Given the description of an element on the screen output the (x, y) to click on. 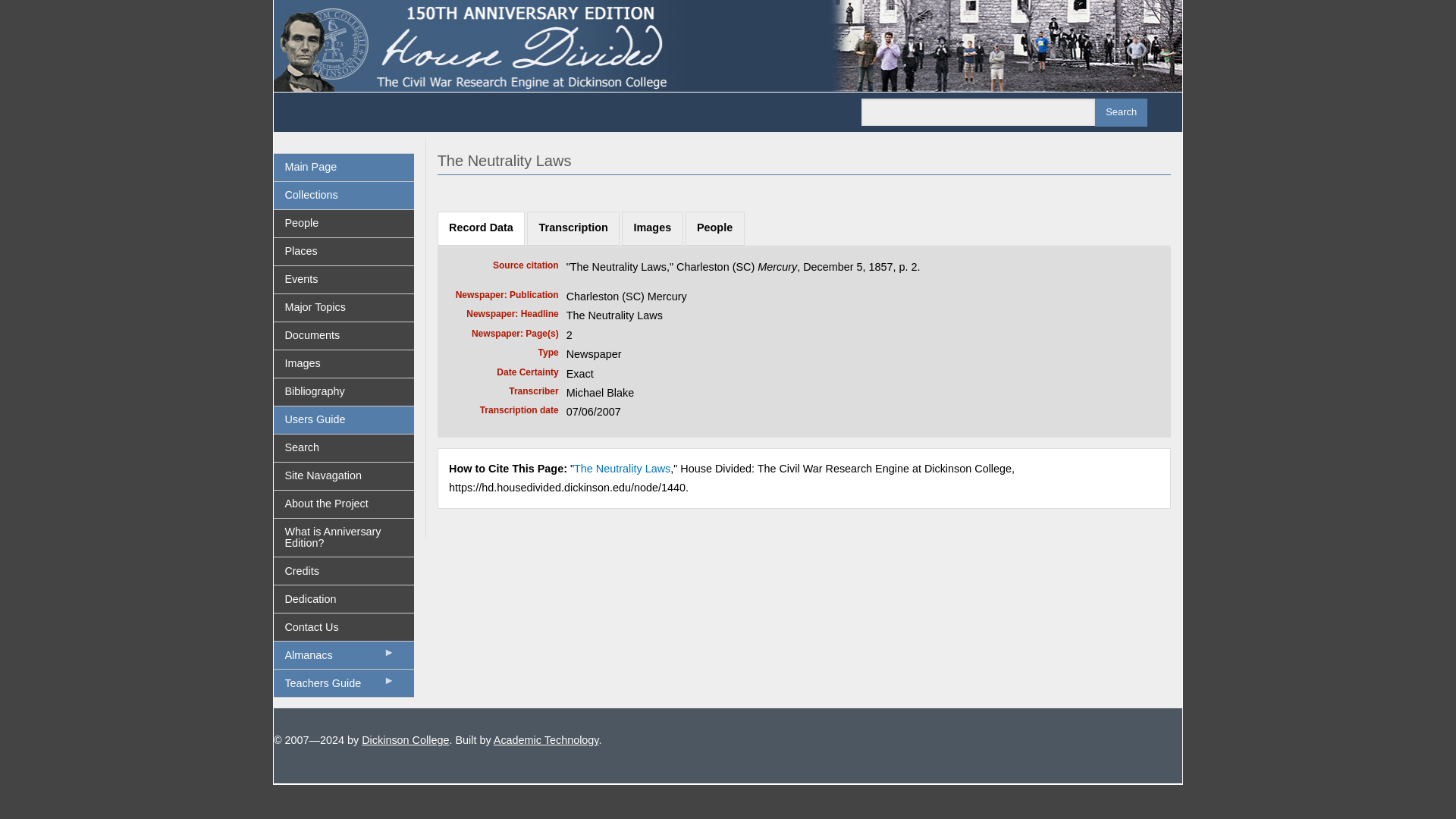
Images (343, 363)
Home (727, 44)
About the Project (343, 503)
Search (343, 447)
Bibliography (343, 391)
Documents (343, 335)
Search (1120, 112)
Major Topics (343, 307)
Places (343, 251)
What is Anniversary Edition? (343, 537)
Contact Us (343, 626)
Dedication (343, 598)
Transcription (572, 228)
The Neutrality Laws (621, 468)
